Given the description of an element on the screen output the (x, y) to click on. 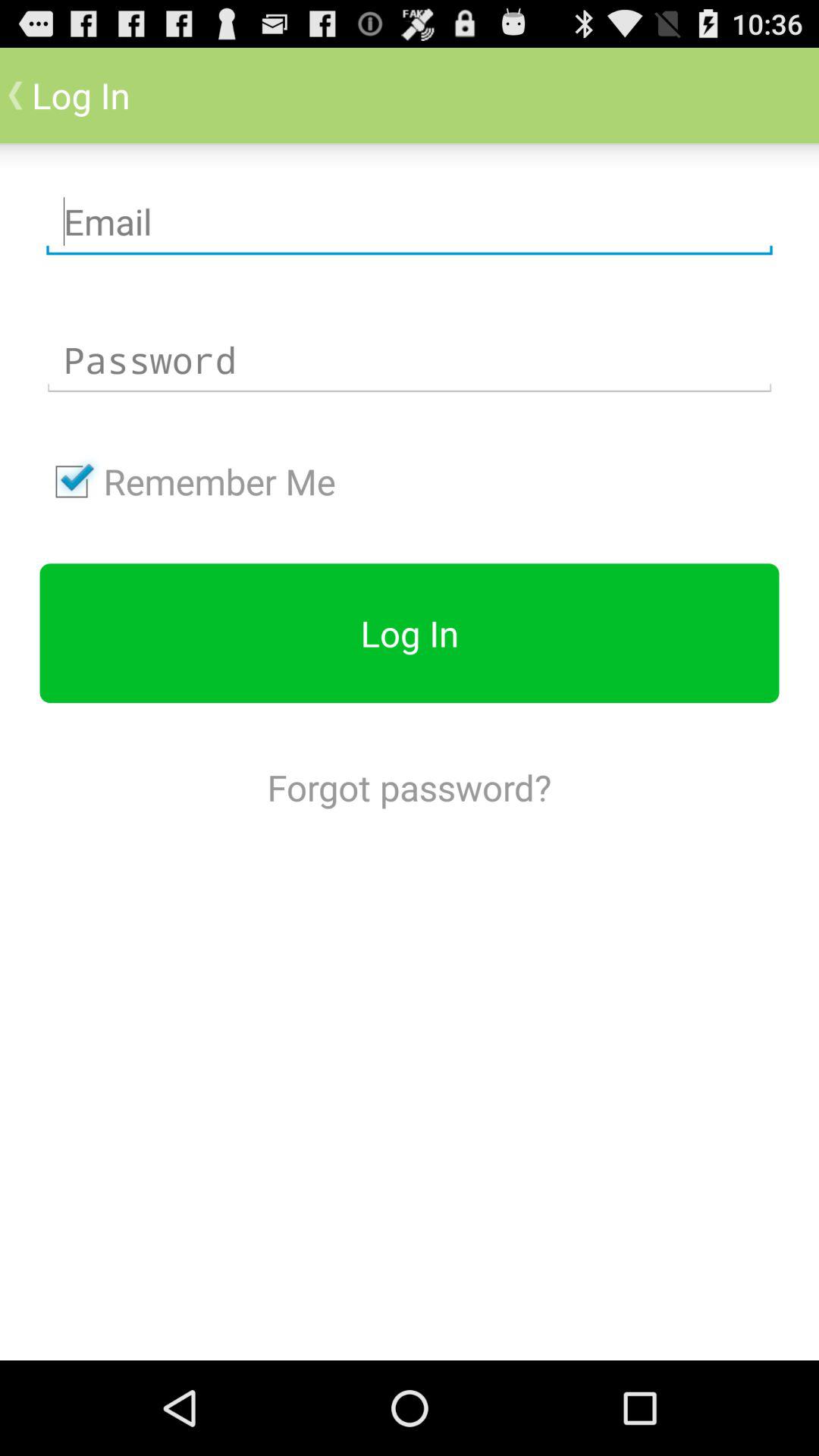
turn on icon above the log in (187, 481)
